Given the description of an element on the screen output the (x, y) to click on. 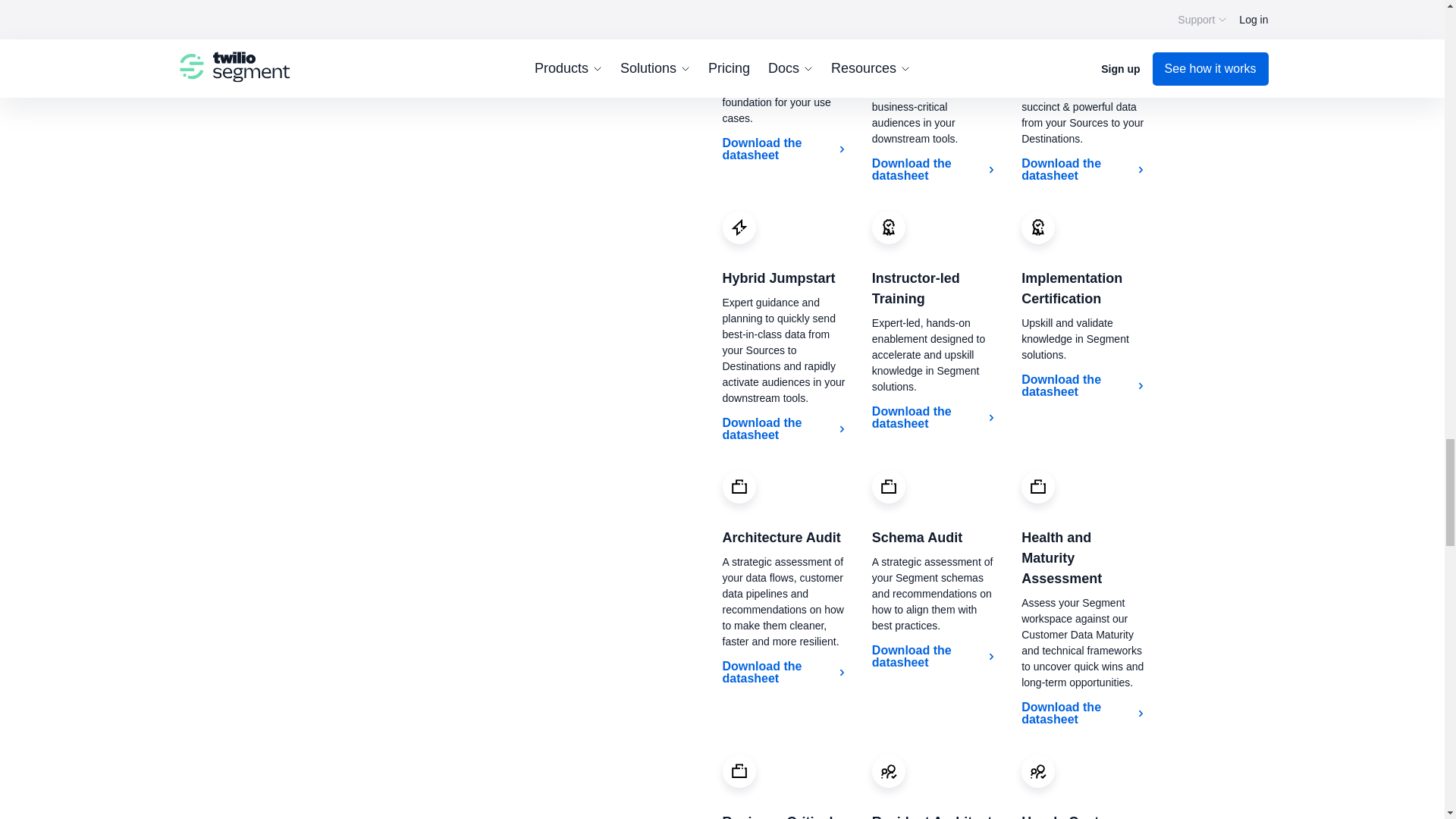
Download the datasheet (934, 417)
Download the datasheet (784, 149)
Download the datasheet (784, 672)
Download the datasheet (784, 428)
Download the datasheet (1084, 385)
Download the datasheet (934, 656)
Download the datasheet (1084, 713)
Download the datasheet (1084, 169)
Download the datasheet (934, 169)
